Given the description of an element on the screen output the (x, y) to click on. 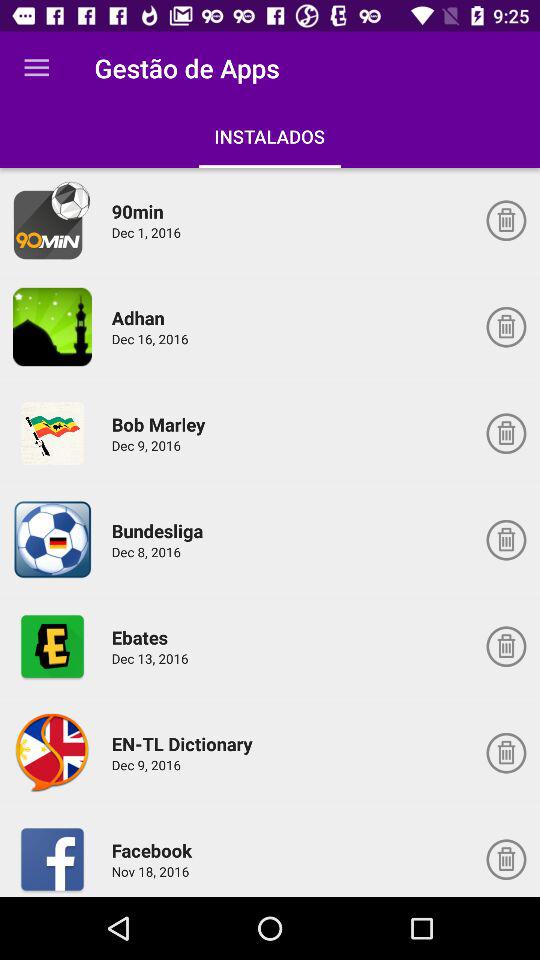
flip to ebates item (142, 637)
